Given the description of an element on the screen output the (x, y) to click on. 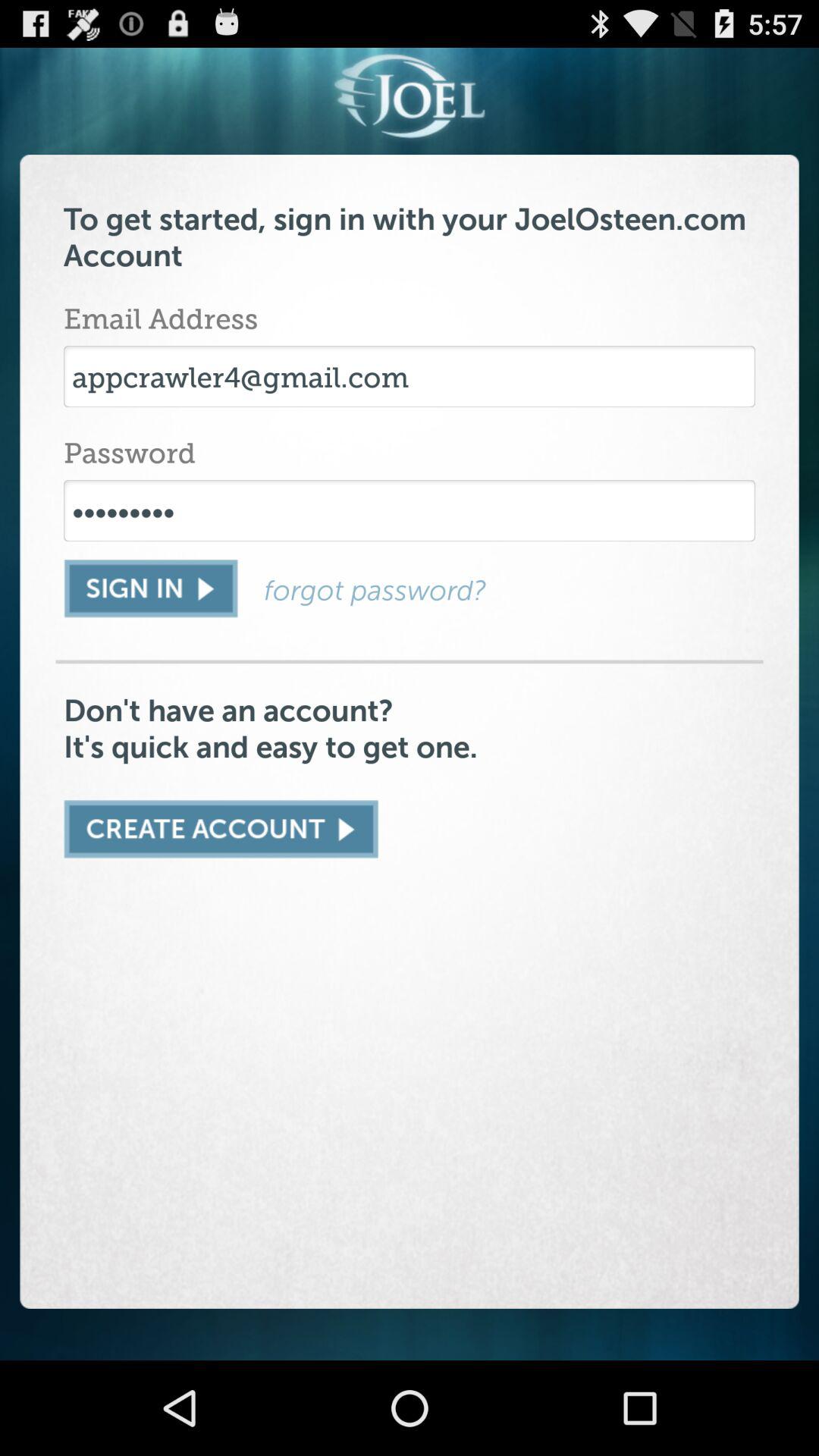
swipe to crowd3116 icon (409, 510)
